Given the description of an element on the screen output the (x, y) to click on. 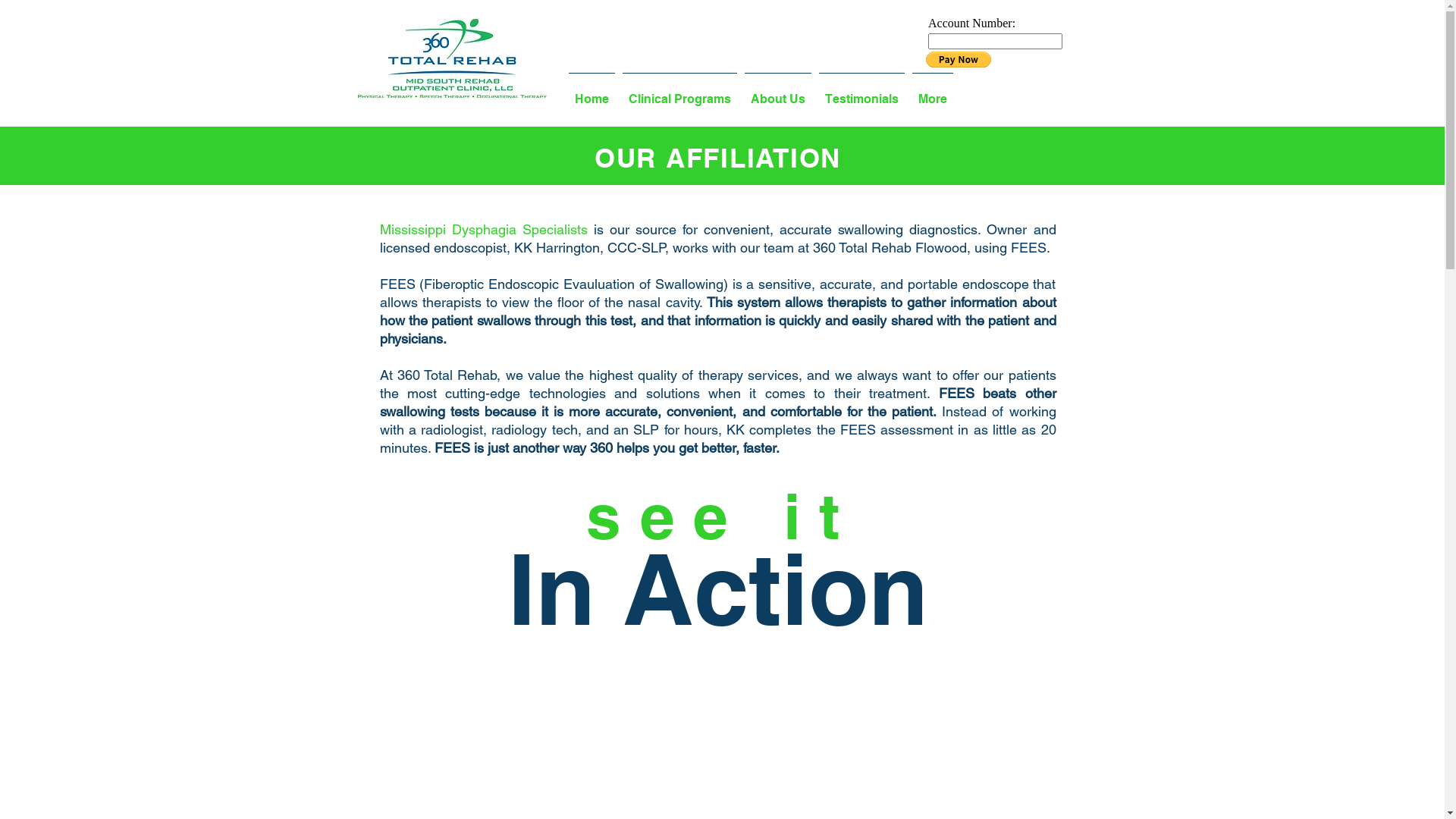
Embedded Content Element type: hover (1006, 47)
360logo_stretched [Converted].jpg Element type: hover (451, 57)
Home Element type: text (591, 91)
Clinical Programs Element type: text (679, 91)
Mississippi Dysphagia Specialists Element type: text (482, 229)
About Us Element type: text (777, 91)
